Given the description of an element on the screen output the (x, y) to click on. 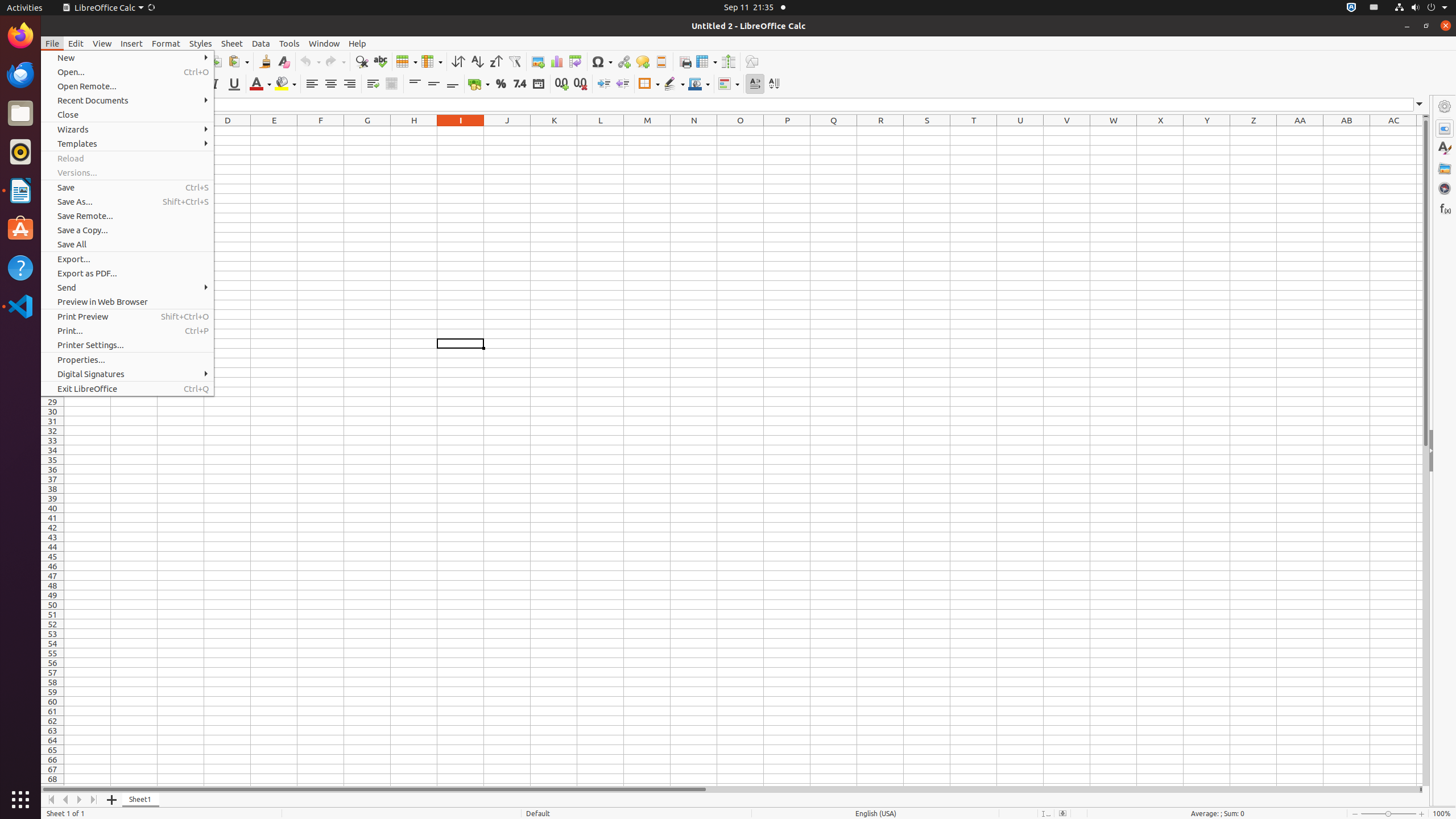
AA1 Element type: table-cell (1299, 130)
N1 Element type: table-cell (693, 130)
LibreOffice Calc Element type: menu (102, 7)
Insert Element type: menu (131, 43)
New Element type: menu (126, 57)
